Given the description of an element on the screen output the (x, y) to click on. 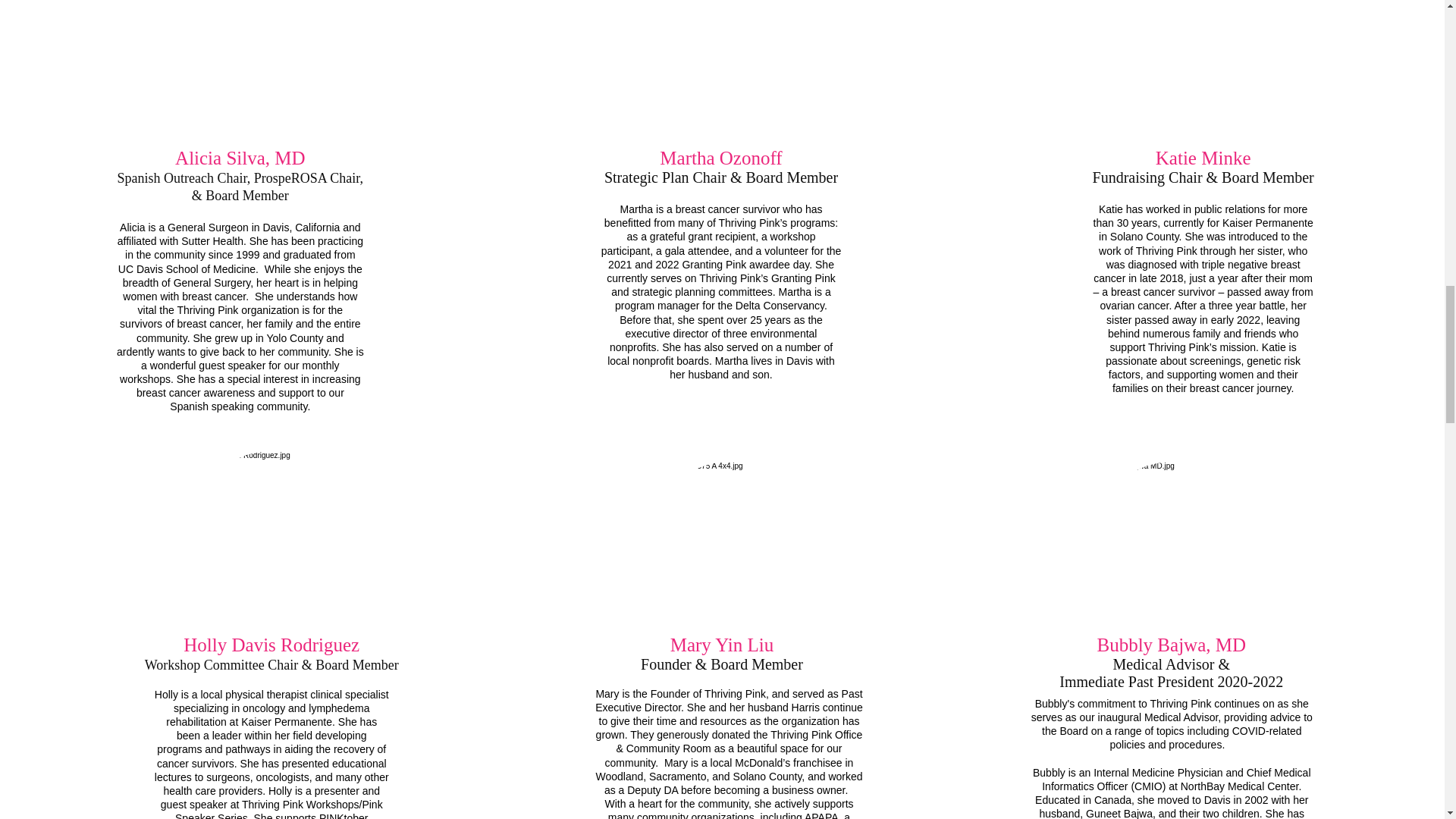
guy2.jpg (240, 66)
guy3.jpg (270, 533)
guy2.jpg (728, 543)
guy2.jpg (1171, 543)
guy3.jpg (1201, 66)
guy4.jpg (716, 66)
